Given the description of an element on the screen output the (x, y) to click on. 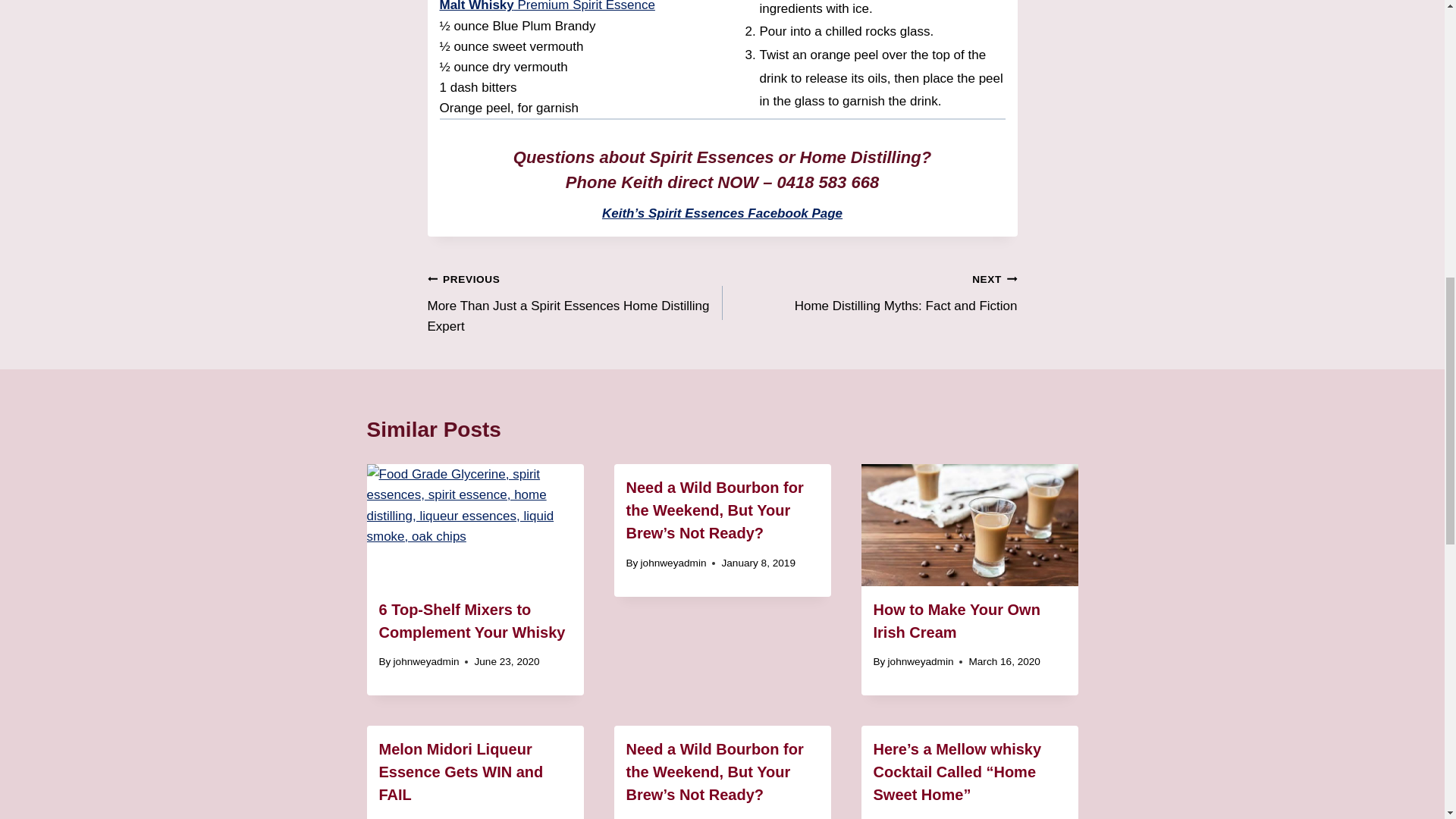
Grainge Single Malt Whisky Premium Spirit Essence (869, 292)
6 Top-Shelf Mixers to Complement Your Whisky (565, 6)
